Given the description of an element on the screen output the (x, y) to click on. 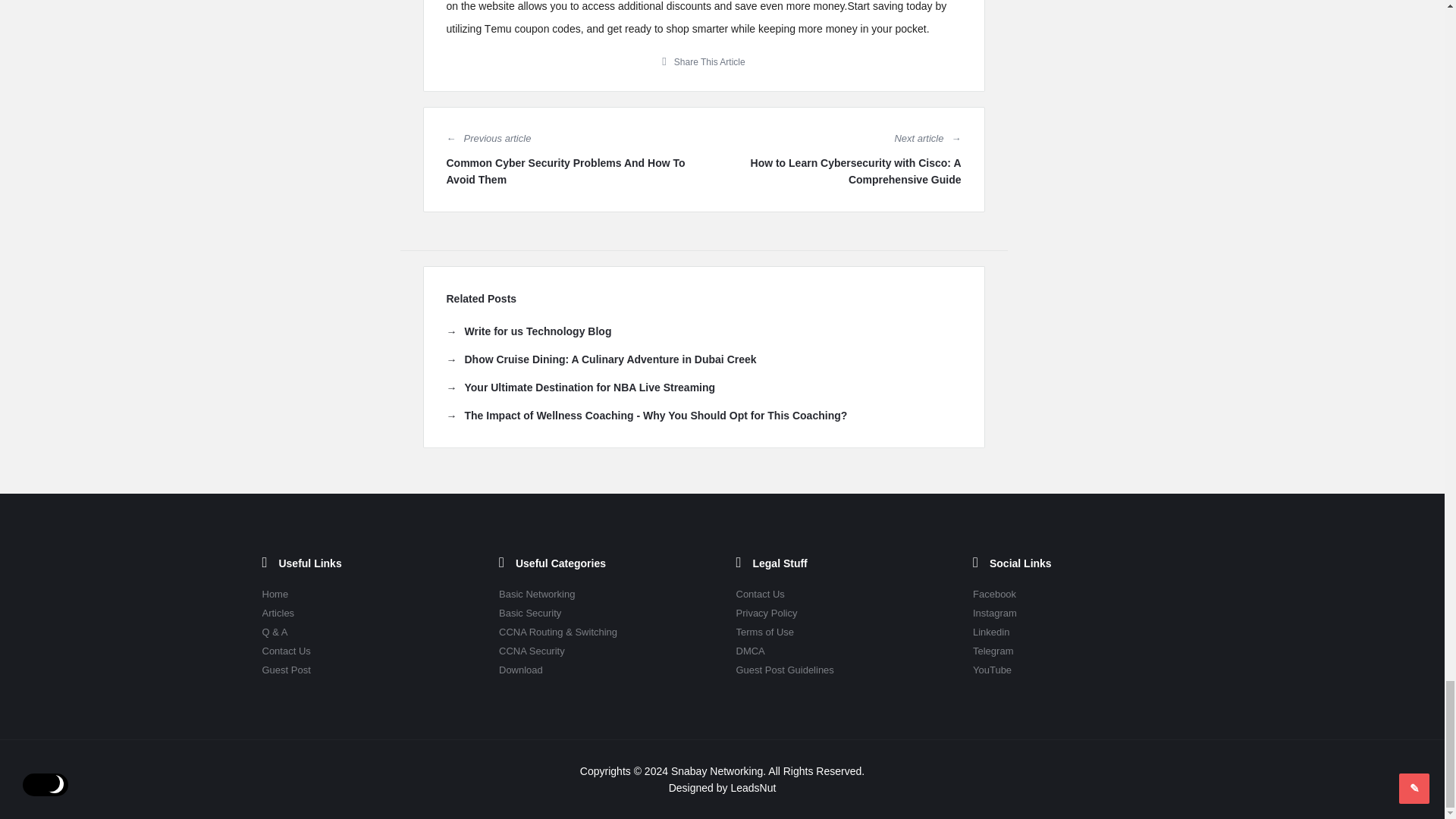
Your Ultimate Destination for NBA Live Streaming (579, 387)
Write for us Technology Blog (528, 330)
Dhow Cruise Dining: A Culinary Adventure in Dubai Creek (600, 359)
